Given the description of an element on the screen output the (x, y) to click on. 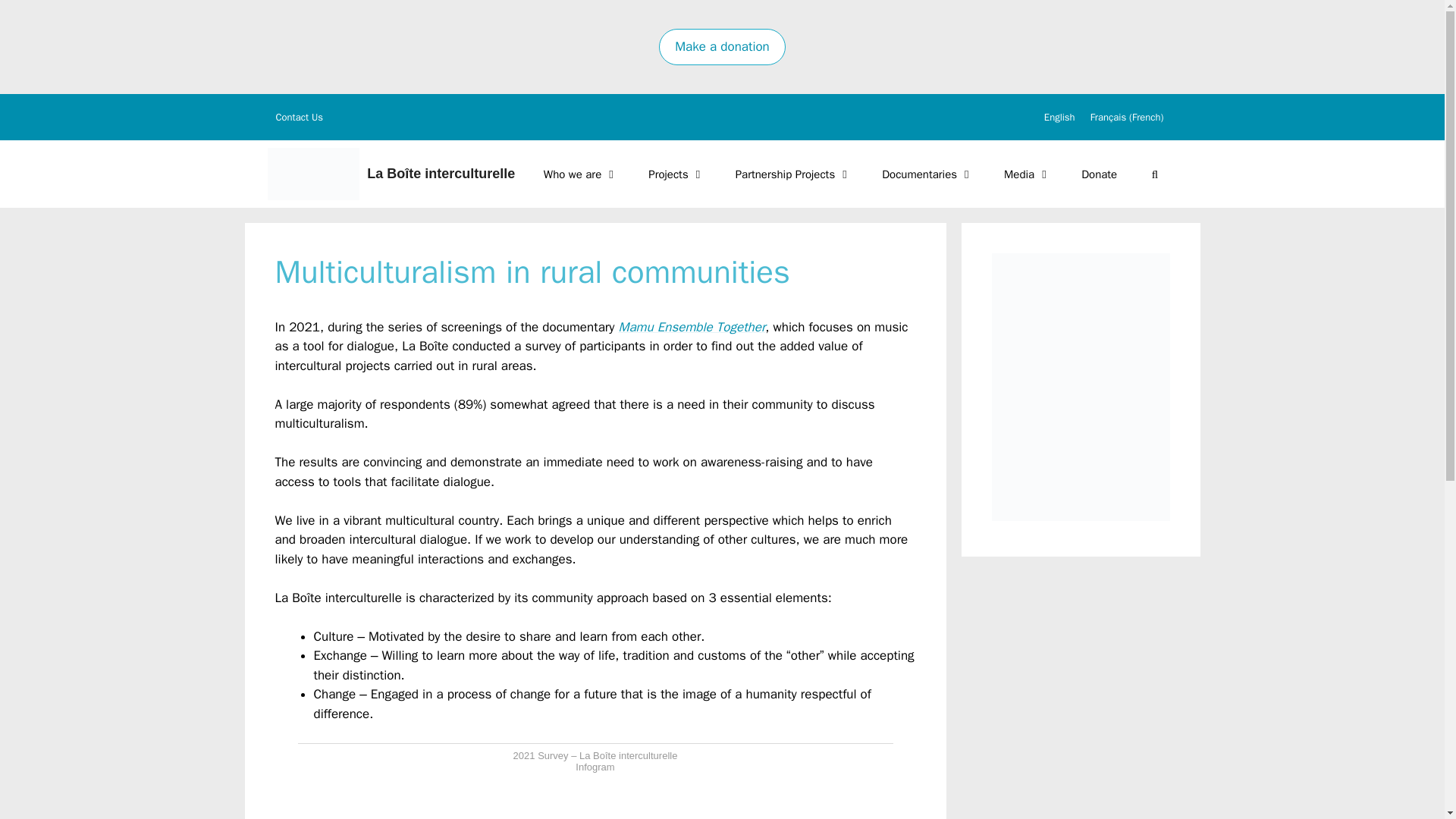
English (1059, 116)
Contact Us (299, 116)
Make a donation (722, 46)
Make a donation (722, 46)
